Given the description of an element on the screen output the (x, y) to click on. 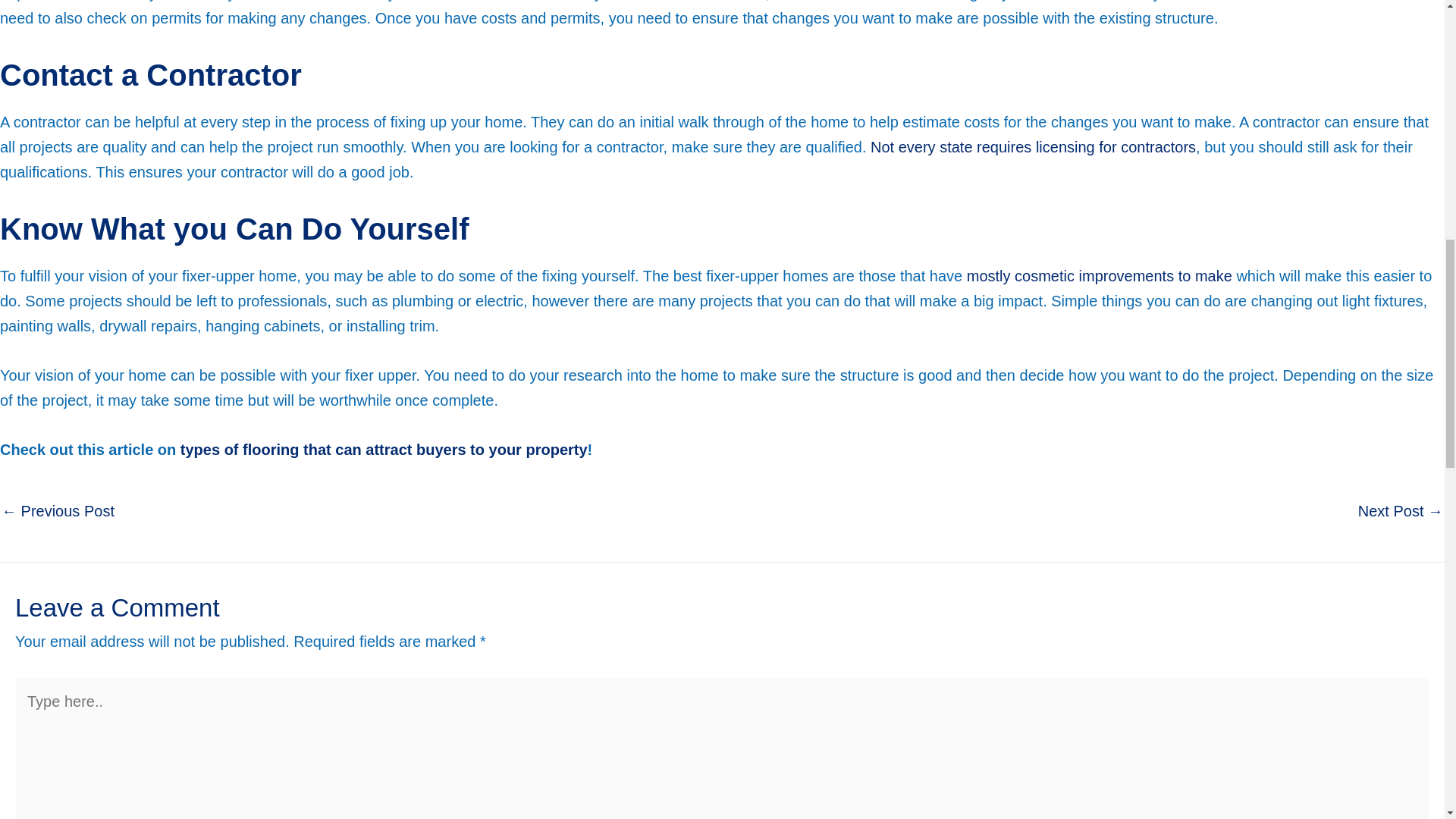
Why the Forbearance Program Changed the Housing Market (58, 512)
Home Improvements That Get a Higher ROI (1400, 512)
